Given the description of an element on the screen output the (x, y) to click on. 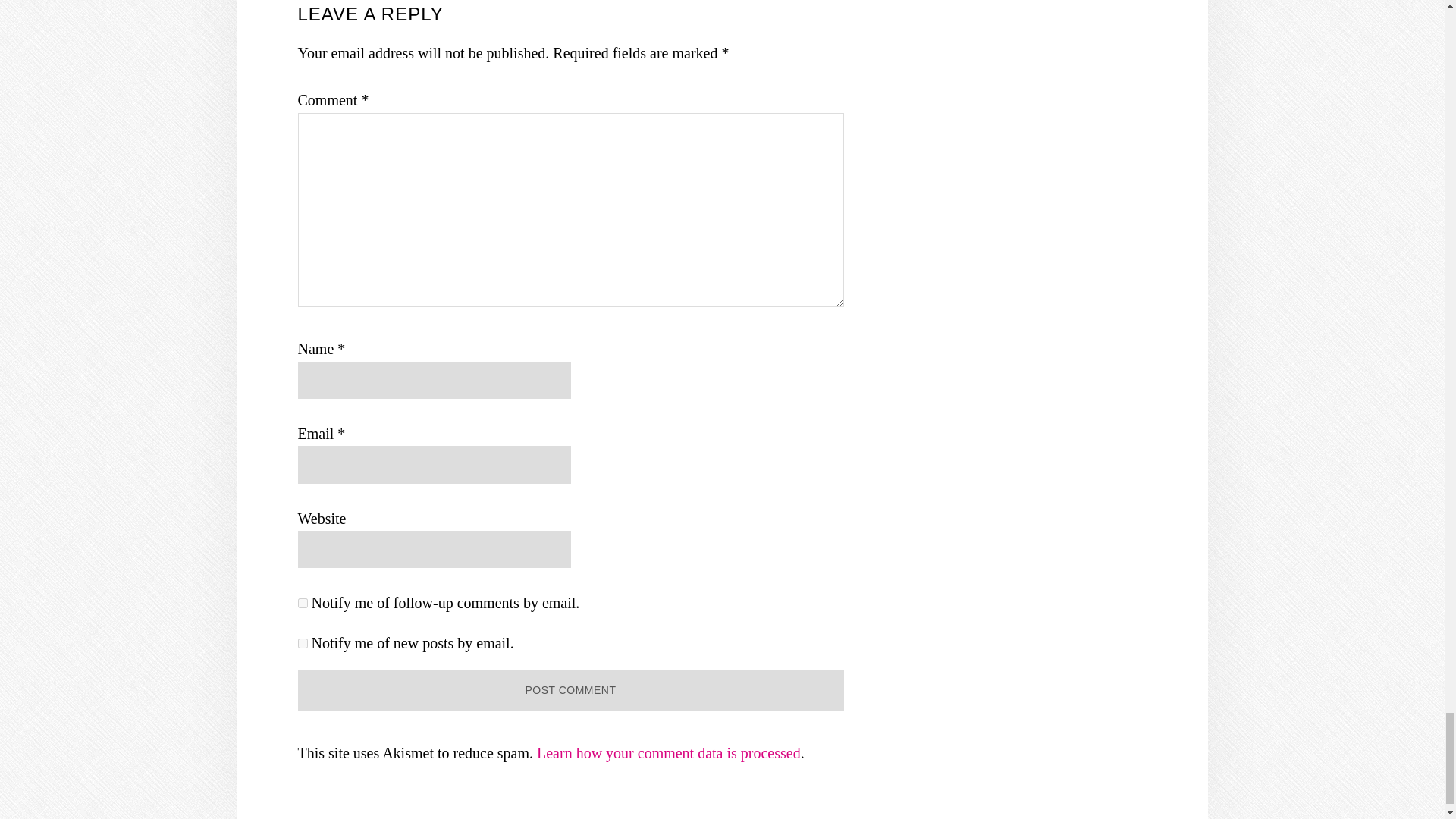
subscribe (302, 603)
subscribe (302, 643)
Post Comment (570, 690)
